Given the description of an element on the screen output the (x, y) to click on. 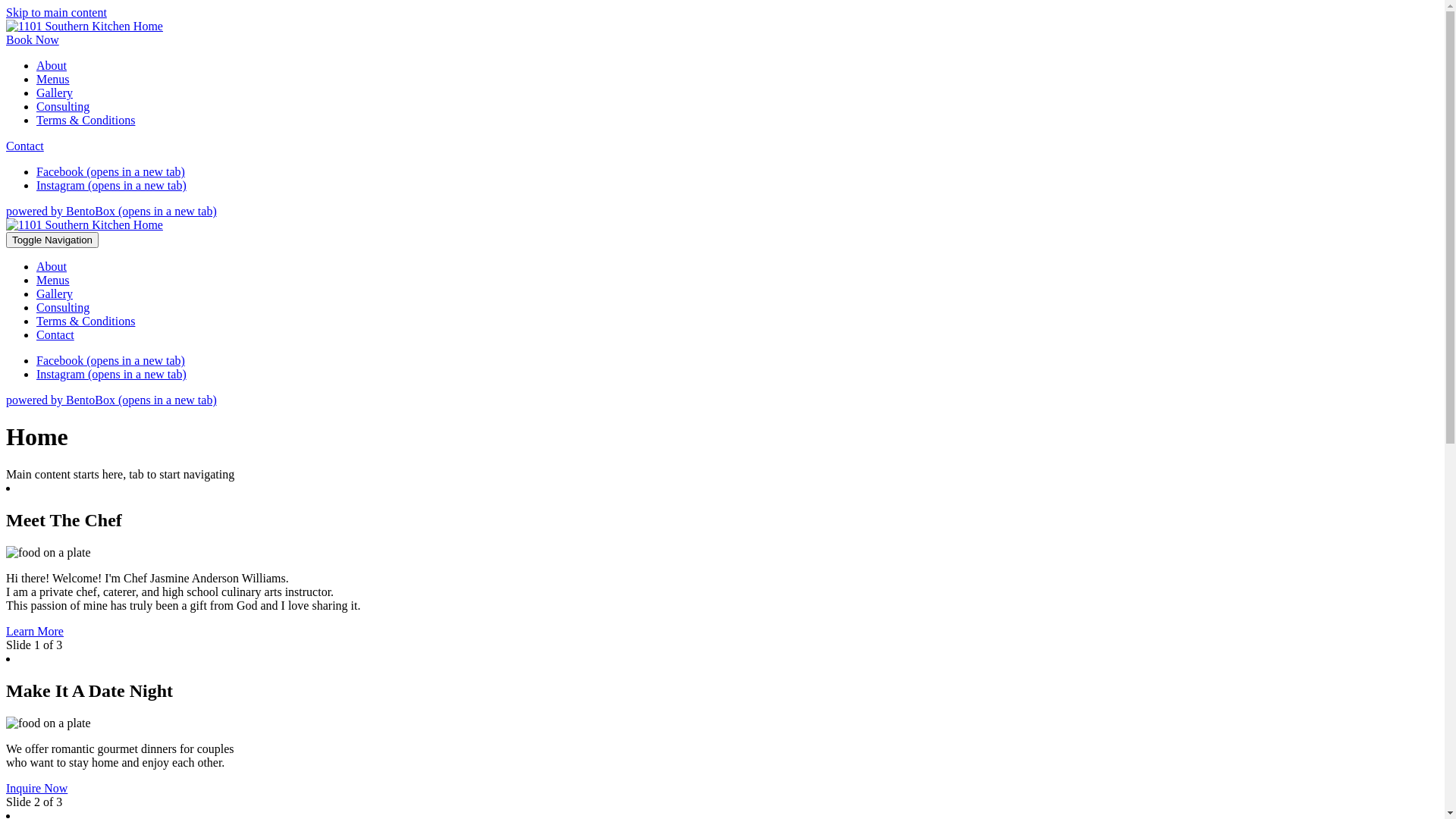
Facebook (opens in a new tab) Element type: text (110, 360)
Contact Element type: text (55, 334)
Consulting Element type: text (62, 307)
Learn More Element type: text (34, 630)
Skip to main content Element type: text (56, 12)
About Element type: text (51, 65)
About Element type: text (51, 266)
Menus Element type: text (52, 279)
Terms & Conditions Element type: text (85, 119)
powered by BentoBox (opens in a new tab) Element type: text (111, 399)
Gallery Element type: text (54, 293)
Inquire Now Element type: text (36, 787)
Facebook (opens in a new tab) Element type: text (110, 171)
Toggle Navigation Element type: text (52, 239)
Terms & Conditions Element type: text (85, 320)
Book Now Element type: text (32, 39)
Instagram (opens in a new tab) Element type: text (111, 184)
Gallery Element type: text (54, 92)
powered by BentoBox (opens in a new tab) Element type: text (111, 210)
Contact Element type: text (24, 145)
Instagram (opens in a new tab) Element type: text (111, 373)
Consulting Element type: text (62, 106)
Menus Element type: text (52, 78)
